Given the description of an element on the screen output the (x, y) to click on. 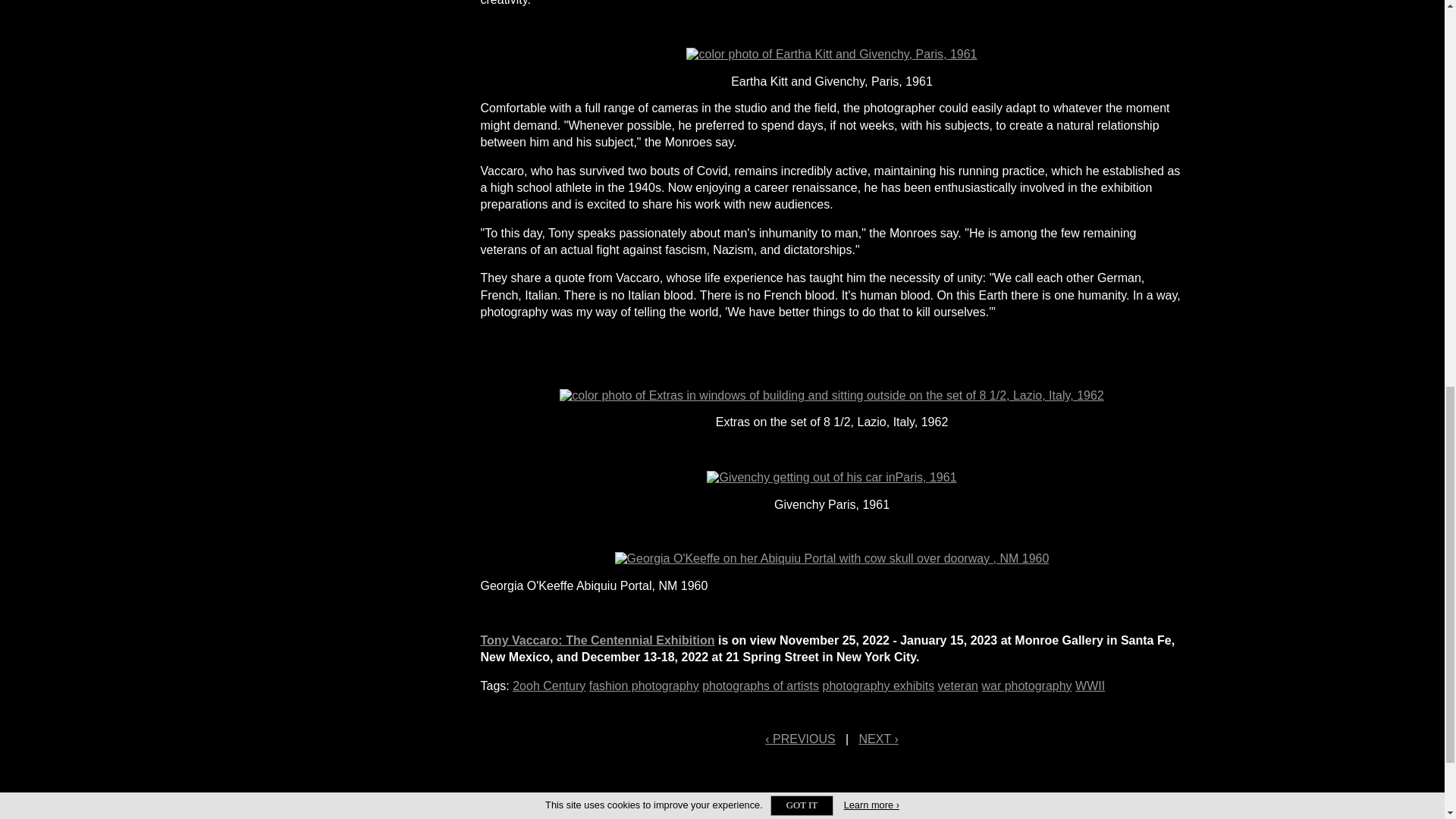
photography exhibits (878, 685)
WWII (1090, 685)
fashion photography (643, 685)
2ooh Century (548, 685)
war photography (1026, 685)
photographs of artists (759, 685)
veteran (957, 685)
Tony Vaccaro: The Centennial Exhibition (597, 640)
